Given the description of an element on the screen output the (x, y) to click on. 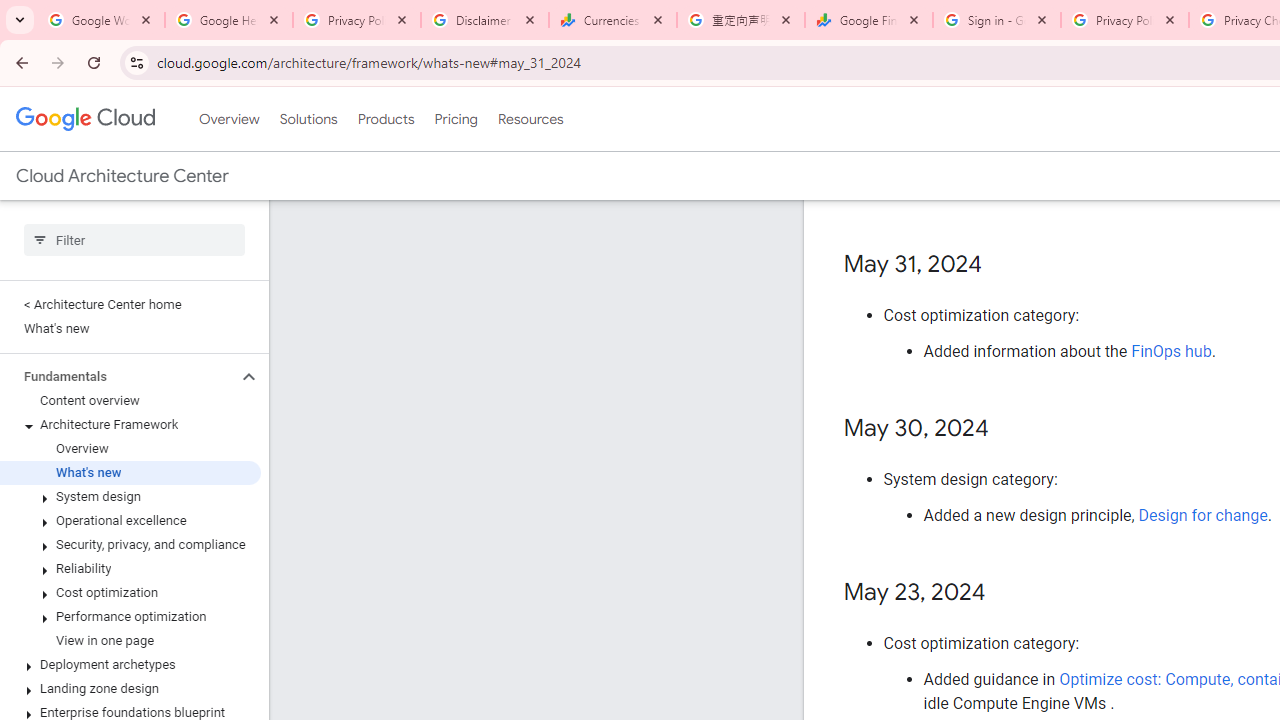
What's new (130, 472)
View in one page (130, 641)
< Architecture Center home (130, 304)
System design (130, 497)
Solutions (308, 119)
FinOps hub (1171, 351)
Resources (530, 119)
Deployment archetypes (130, 664)
Landing zone design (130, 688)
Copy link to this section: May 31, 2024 (1001, 264)
Operational excellence (130, 520)
Pricing (455, 119)
